Given the description of an element on the screen output the (x, y) to click on. 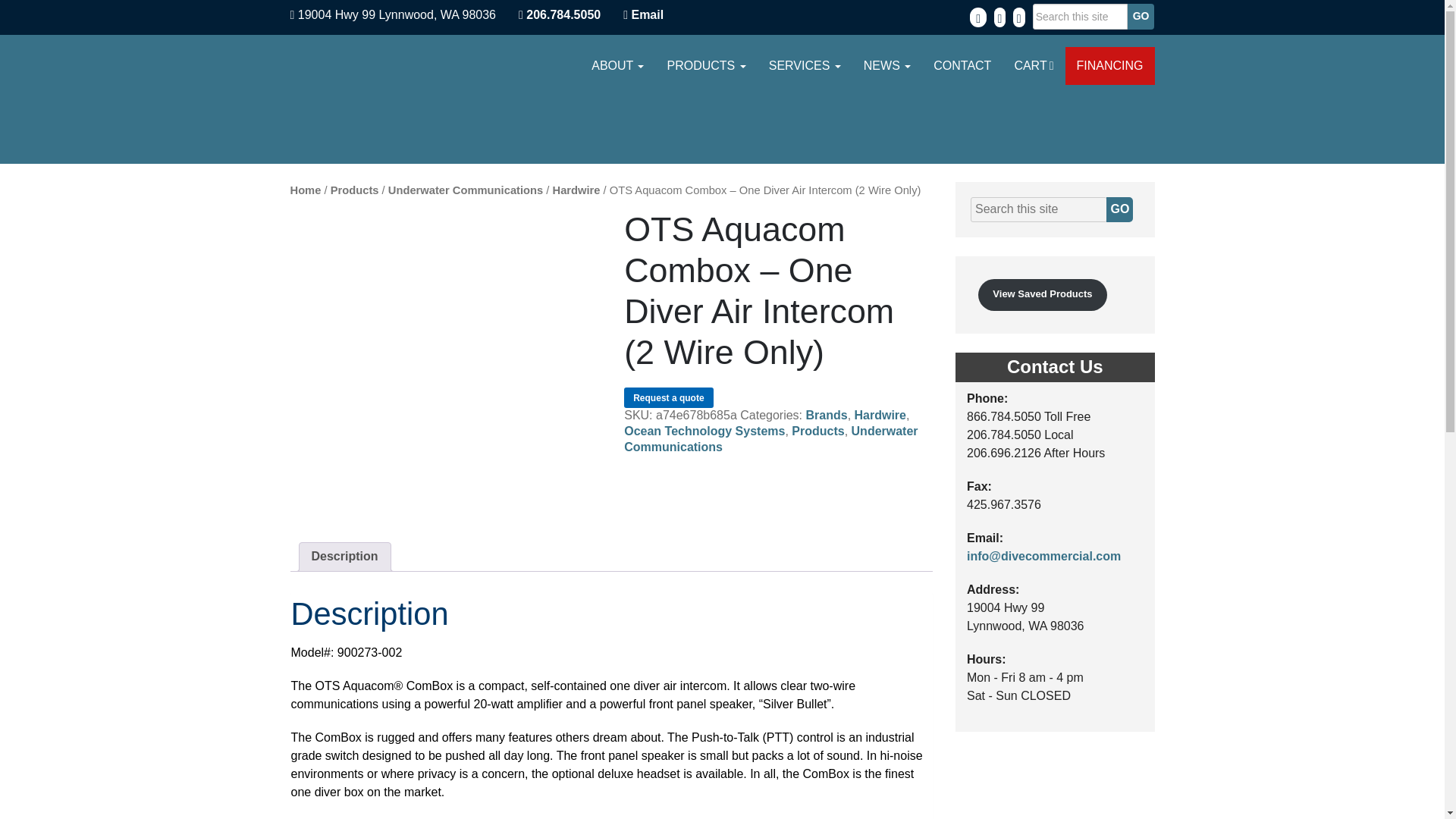
Go (1140, 16)
About (617, 65)
Email (646, 14)
Go (1140, 16)
Go (1140, 16)
Products (706, 65)
GO (1119, 209)
GO (1119, 209)
206.784.5050 (558, 14)
